Given the description of an element on the screen output the (x, y) to click on. 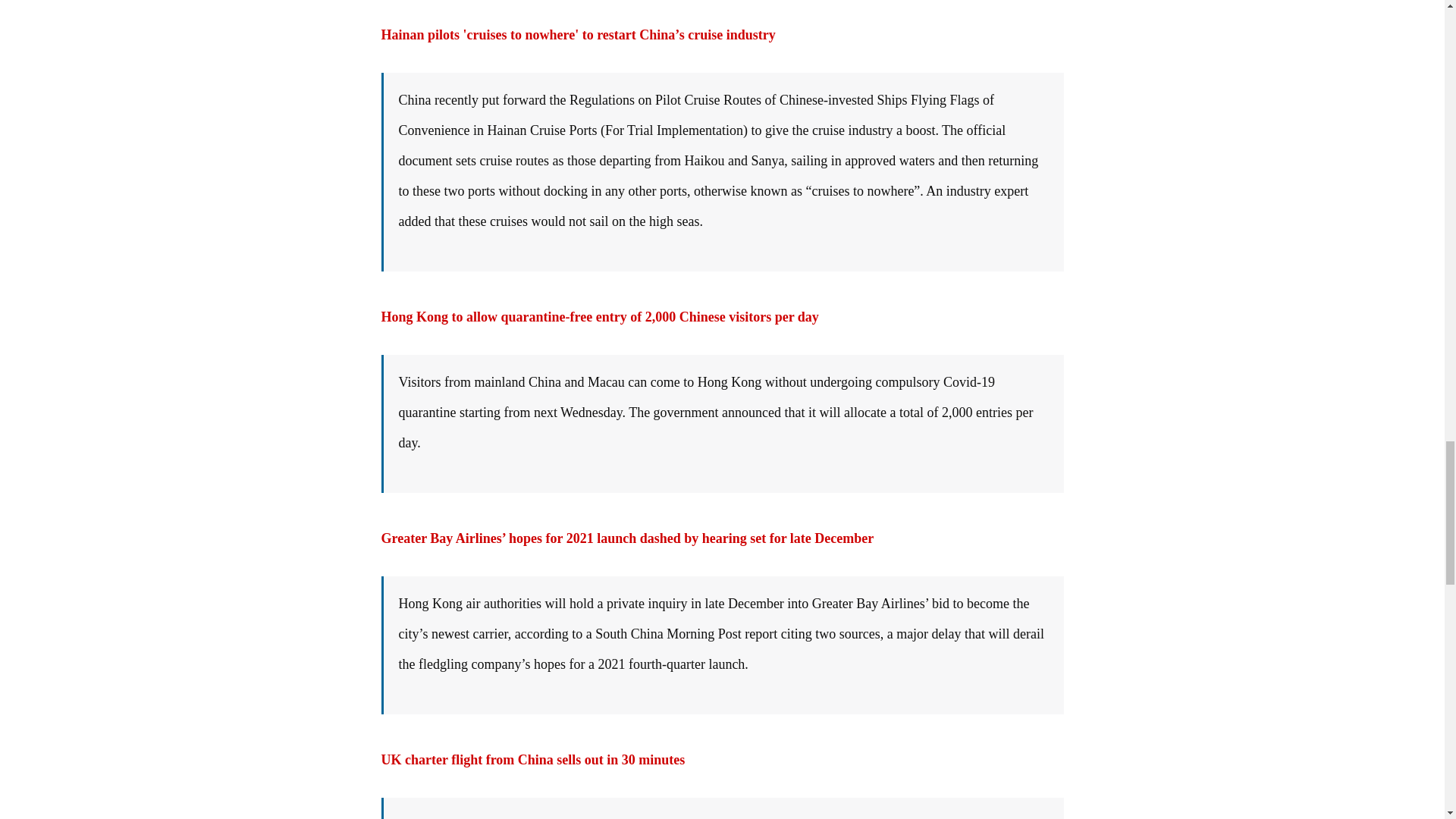
UK charter flight from China sells out in 30 minutes (532, 759)
